Given the description of an element on the screen output the (x, y) to click on. 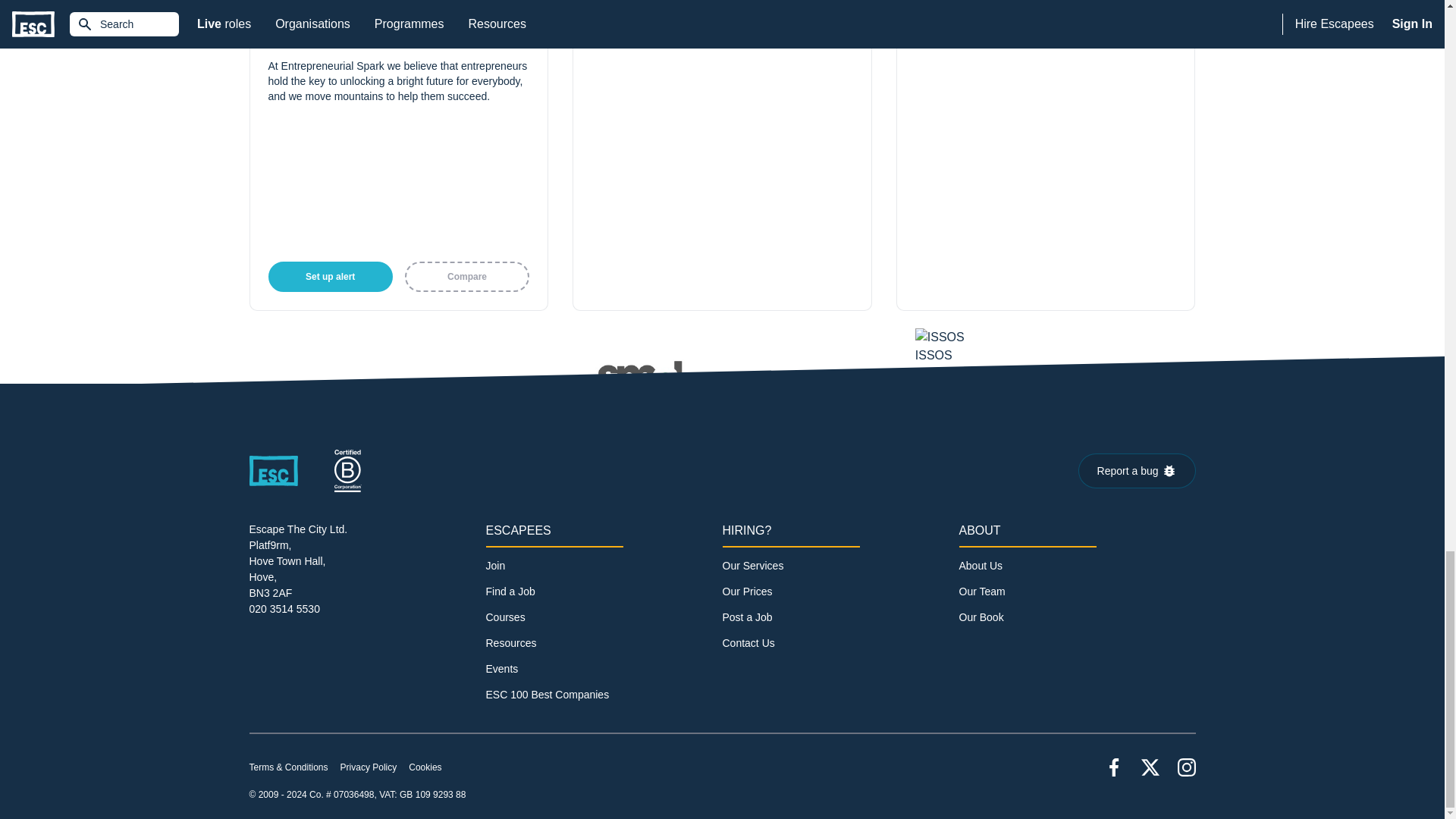
Set up alert (330, 276)
smol (721, 385)
Compare (466, 276)
